Given the description of an element on the screen output the (x, y) to click on. 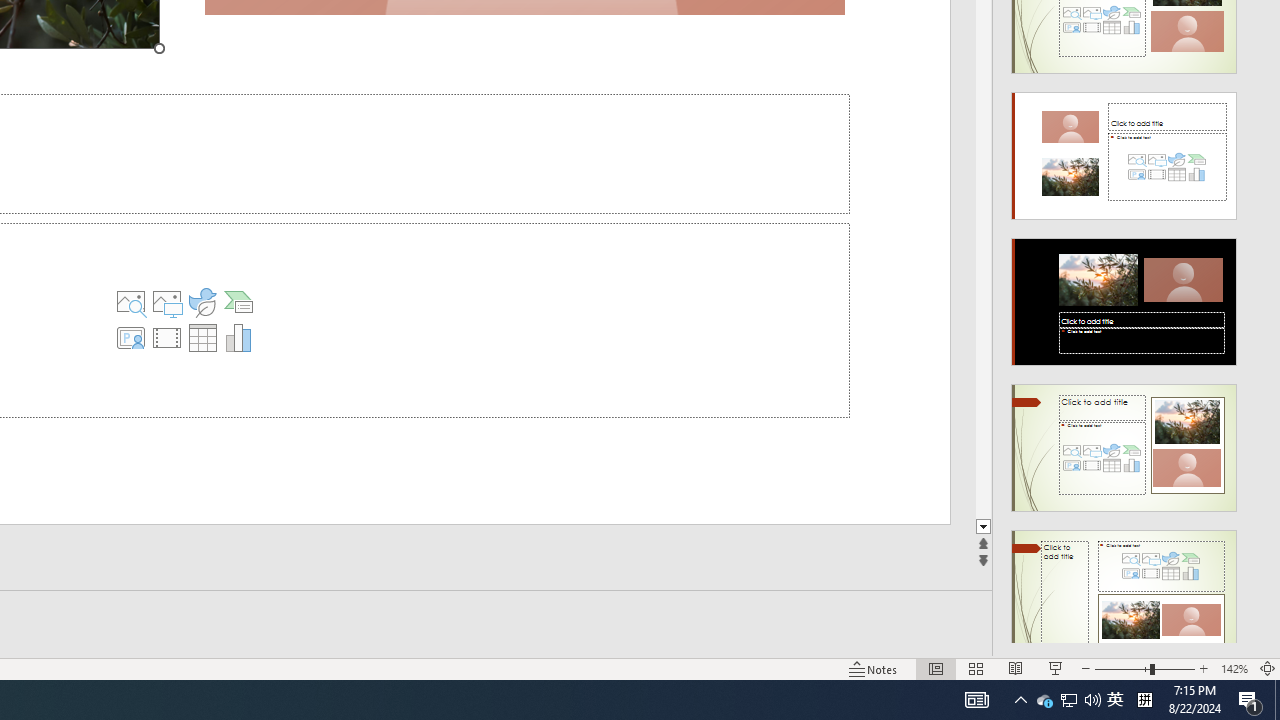
Insert Table (202, 337)
